Given the description of an element on the screen output the (x, y) to click on. 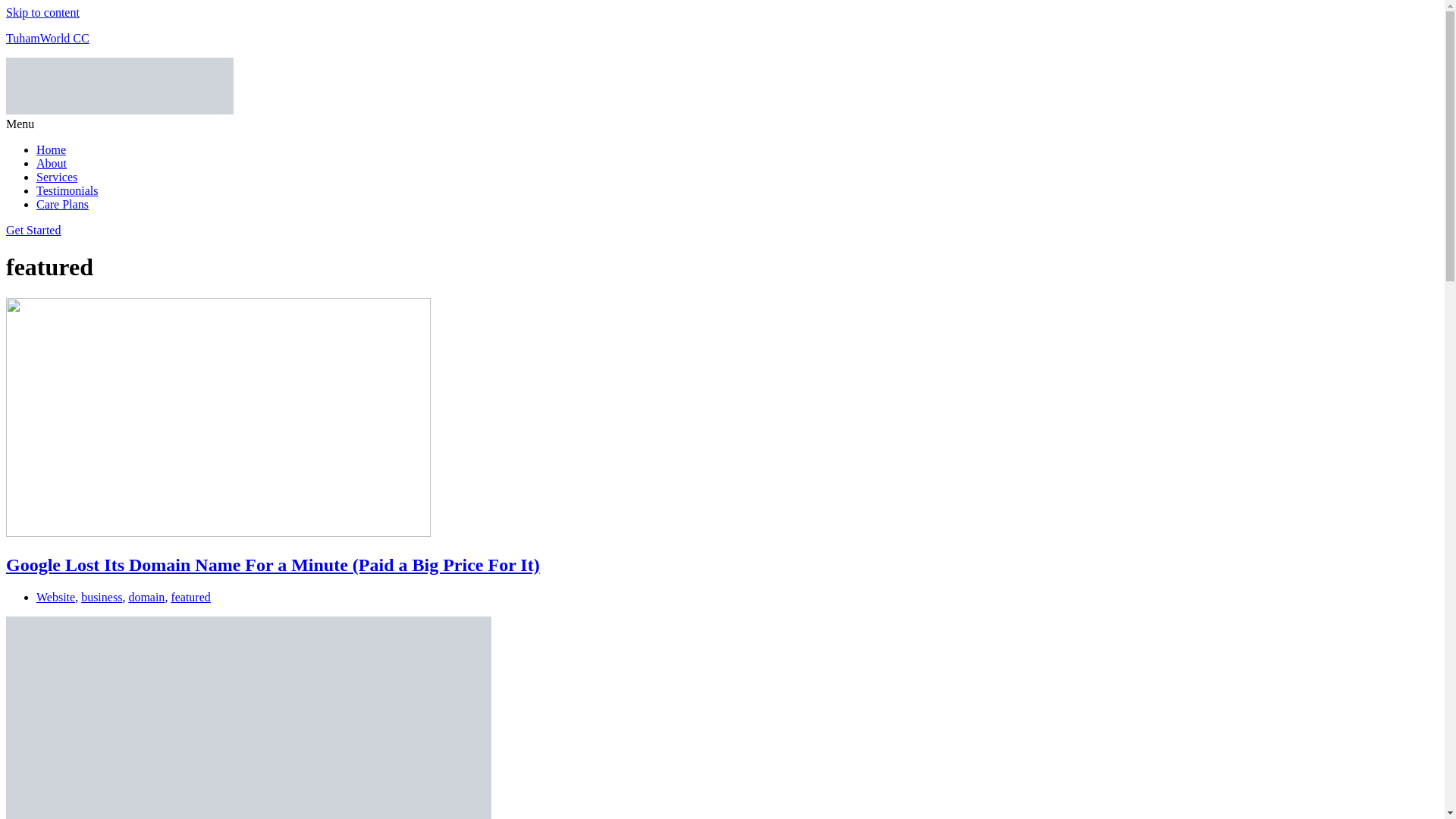
Website (55, 596)
TuhamWorld CC (46, 38)
Get Started (33, 229)
business (101, 596)
About (51, 163)
featured (189, 596)
Skip to content (42, 11)
Testimonials (67, 190)
Care Plans (62, 204)
domain (146, 596)
Home (50, 149)
Services (56, 176)
TuhamWorld CC (46, 38)
